Given the description of an element on the screen output the (x, y) to click on. 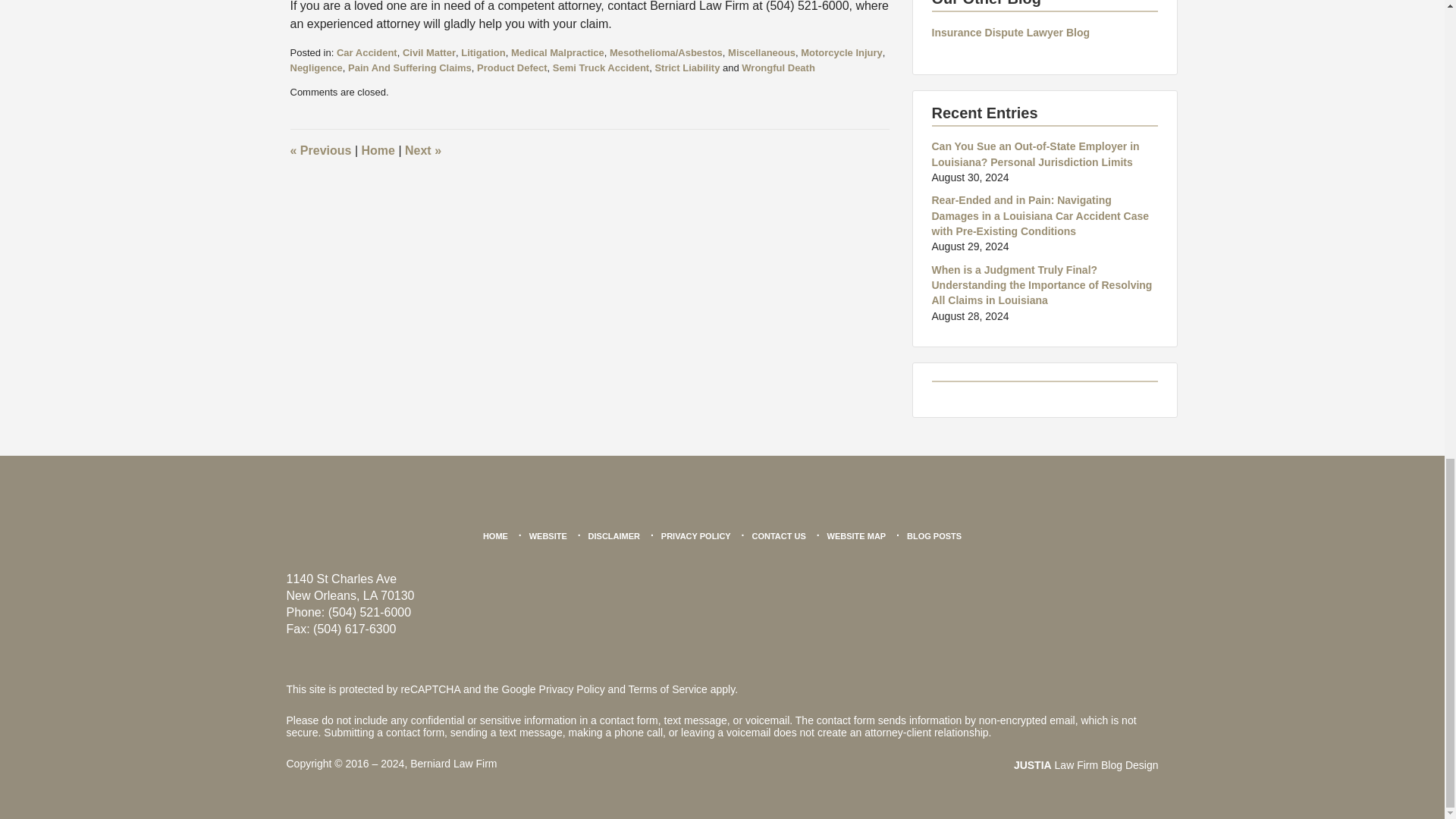
View all posts in Product Defect (512, 67)
View all posts in Wrongful Death (778, 67)
View all posts in Civil Matter (429, 52)
Berniard Law Firm- New Website and Updated Legal Information (422, 150)
Medical Malpractice (557, 52)
View all posts in Litigation (483, 52)
Wrongful Death (778, 67)
Home (377, 150)
View all posts in Medical Malpractice (557, 52)
Pain And Suffering Claims (409, 67)
